Given the description of an element on the screen output the (x, y) to click on. 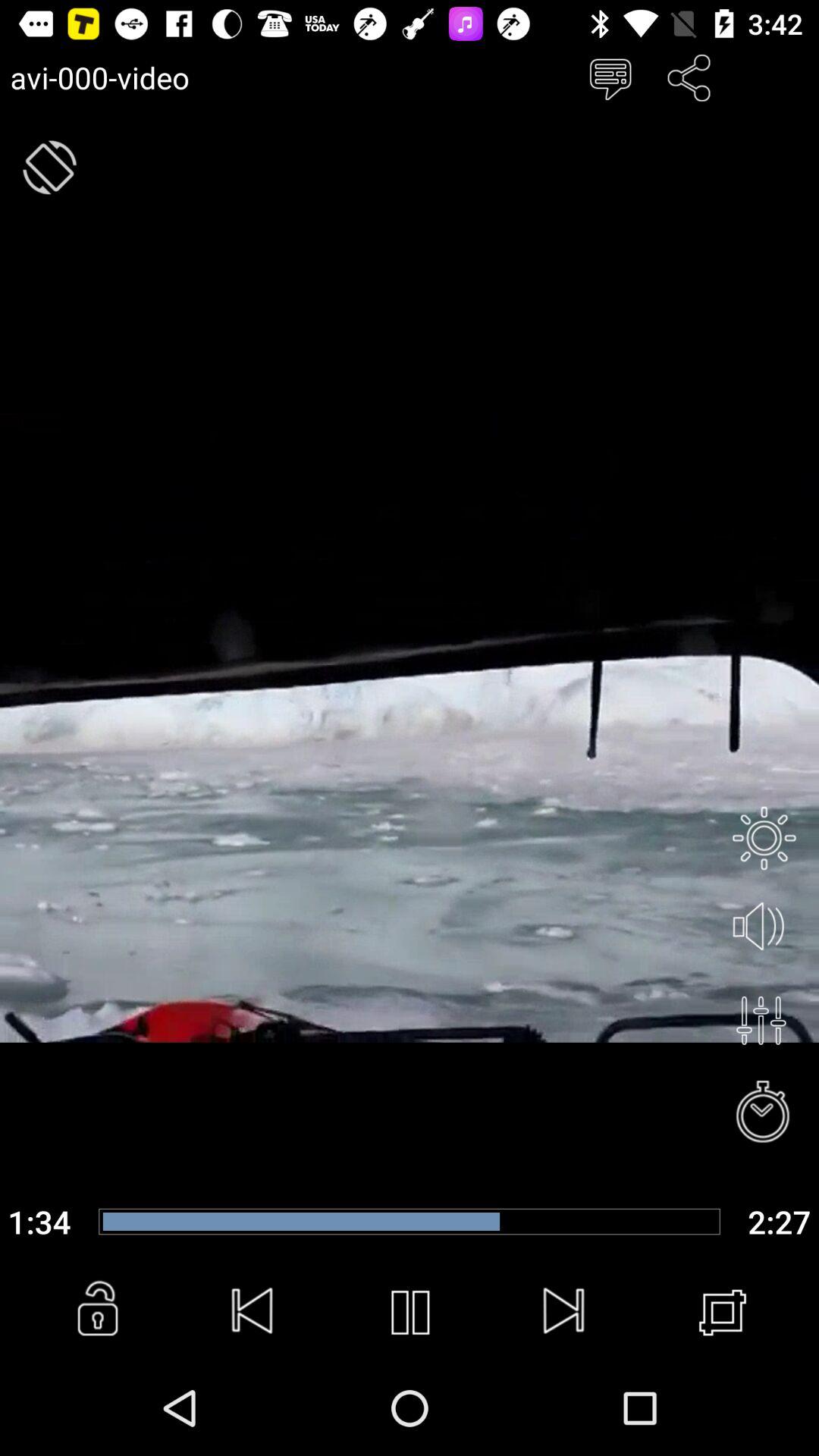
previous page (253, 1312)
